Given the description of an element on the screen output the (x, y) to click on. 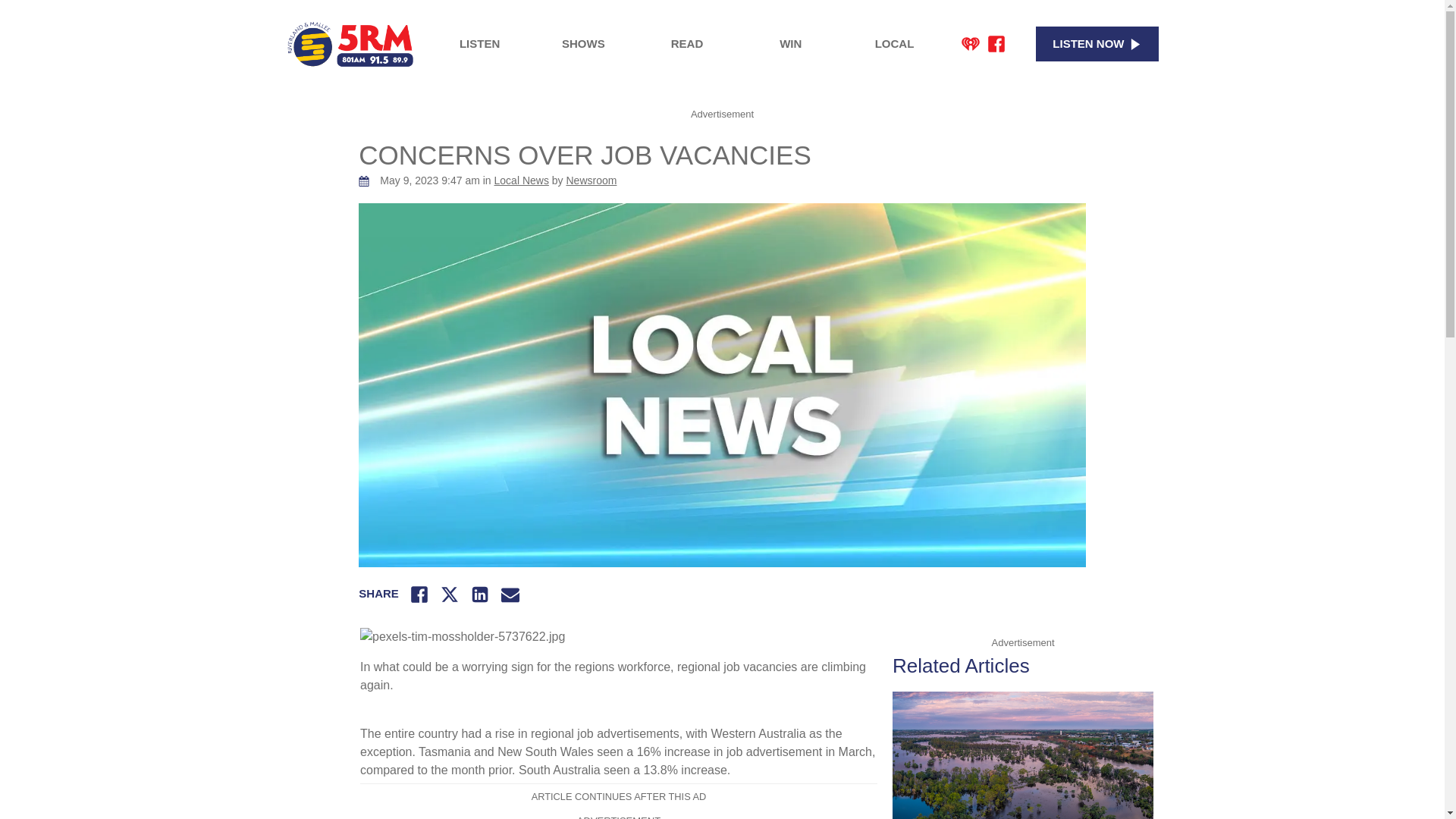
Posts by Newsroom (590, 180)
LISTEN NOW (1096, 44)
SHOWS (582, 43)
Facebook (996, 44)
LOCAL (894, 43)
READ (686, 43)
WIN (790, 43)
LISTEN (479, 43)
iHeart (969, 44)
